Given the description of an element on the screen output the (x, y) to click on. 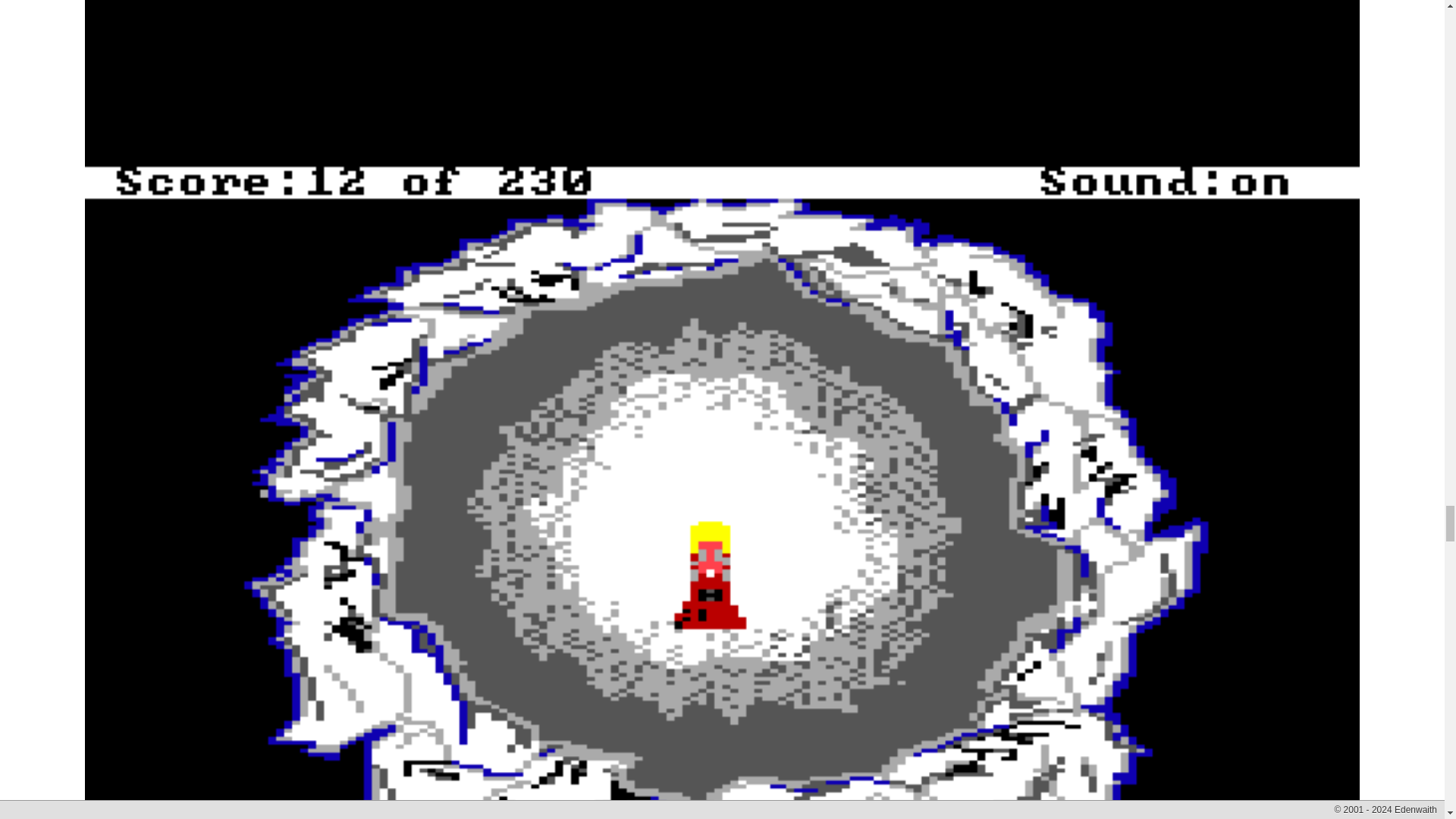
Procrastination screen 2 - AGI version of King's Quest 4 (721, 43)
